Given the description of an element on the screen output the (x, y) to click on. 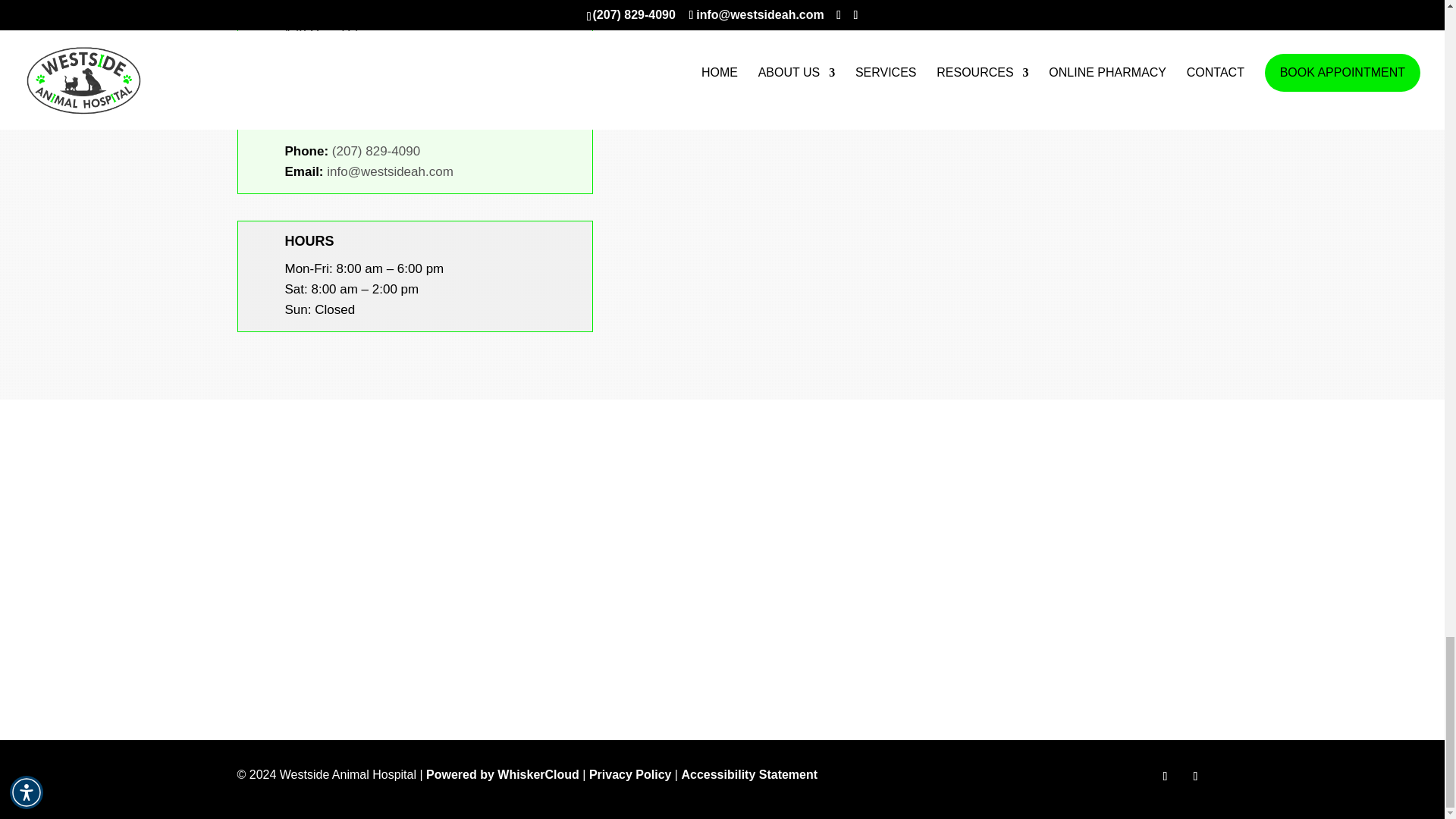
Follow on Facebook (1164, 776)
Follow on Instagram (1194, 776)
